Given the description of an element on the screen output the (x, y) to click on. 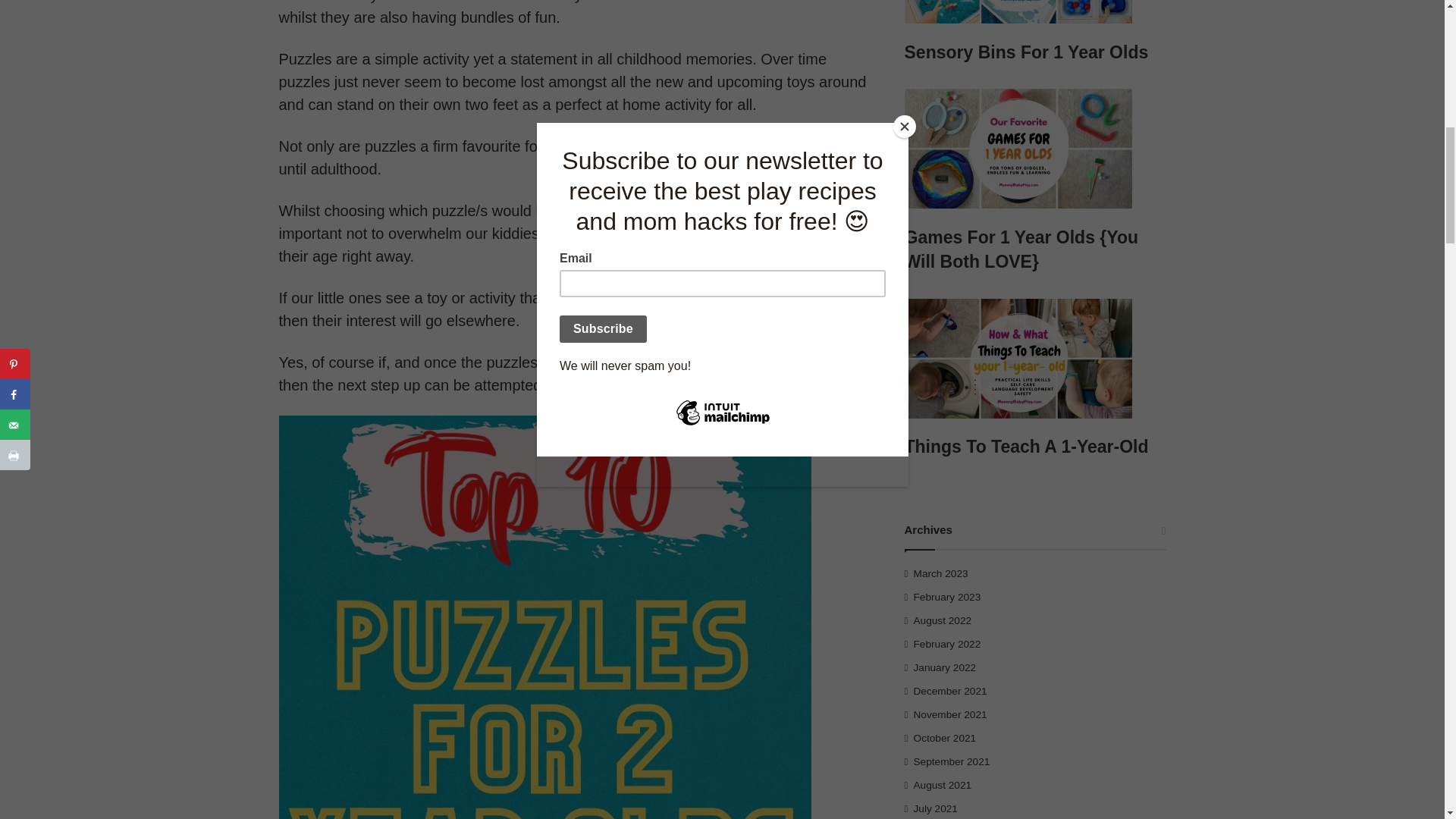
Sensory Bins For 1 Year Olds (1026, 52)
Things To Teach A 1-Year-Old (1035, 360)
Things To Teach A 1-Year-Old (1026, 446)
Sensory Bins For 1 Year Olds (1035, 13)
